Given the description of an element on the screen output the (x, y) to click on. 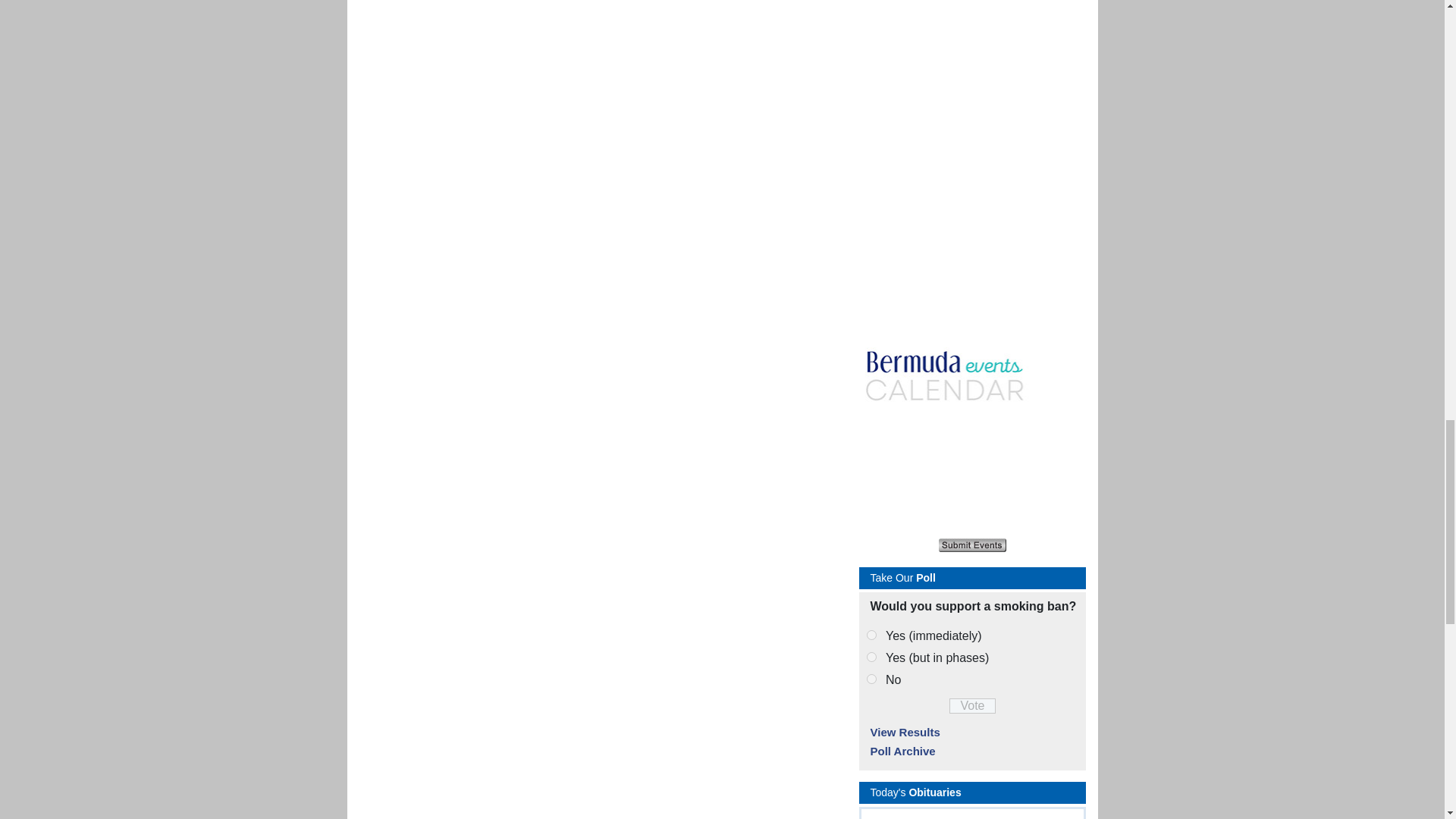
354 (871, 634)
356 (871, 678)
   Vote    (972, 705)
355 (871, 656)
